Given the description of an element on the screen output the (x, y) to click on. 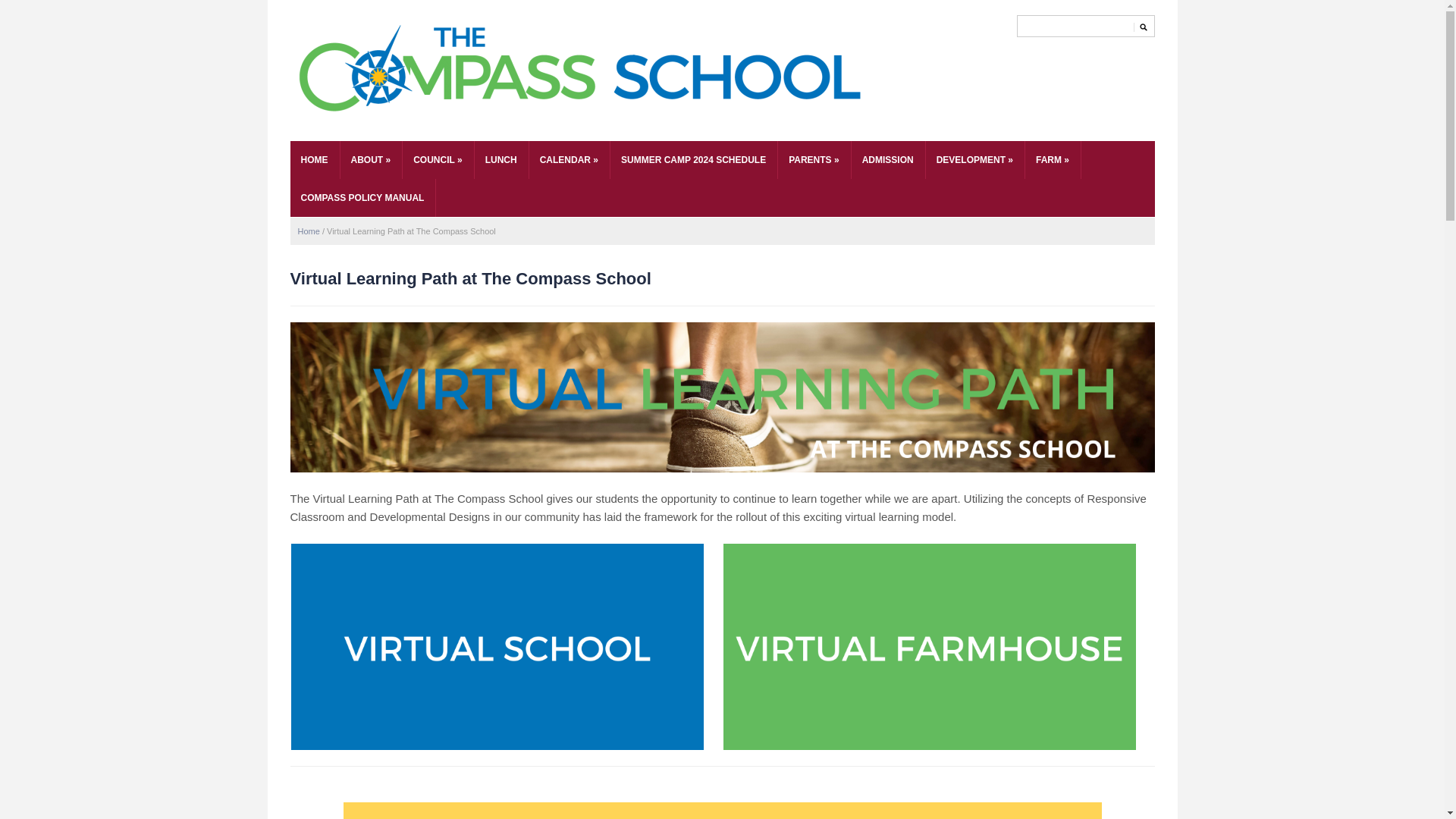
HOME (314, 159)
Home (307, 230)
SUMMER CAMP 2024 SCHEDULE (693, 159)
COMPASS POLICY MANUAL (362, 198)
LUNCH (501, 159)
Nurturing Love of Learning, Self, Others, and Planet (579, 71)
ADMISSION (887, 159)
